Given the description of an element on the screen output the (x, y) to click on. 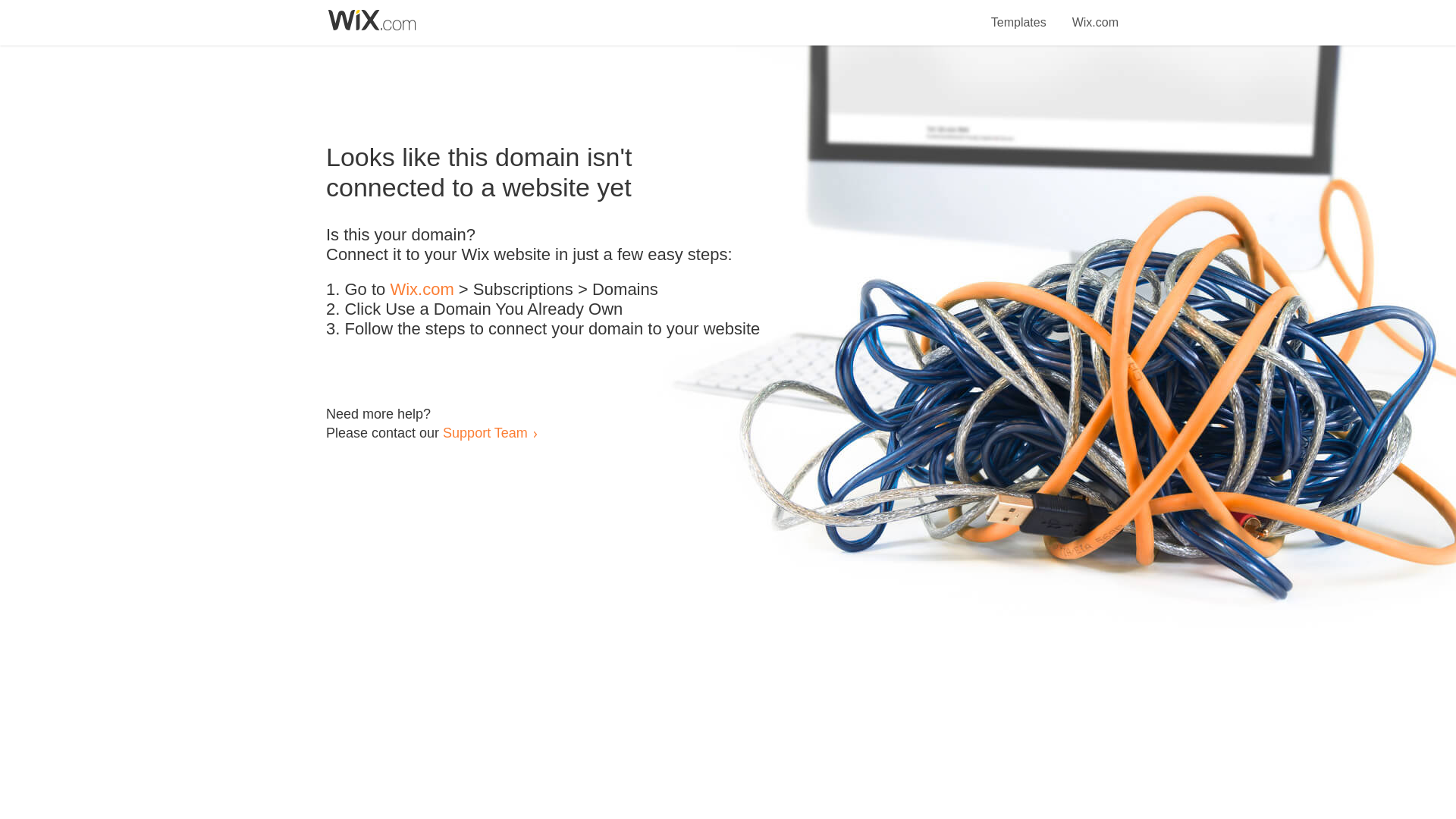
Templates (1018, 14)
Support Team (484, 432)
Wix.com (421, 289)
Wix.com (1095, 14)
